Given the description of an element on the screen output the (x, y) to click on. 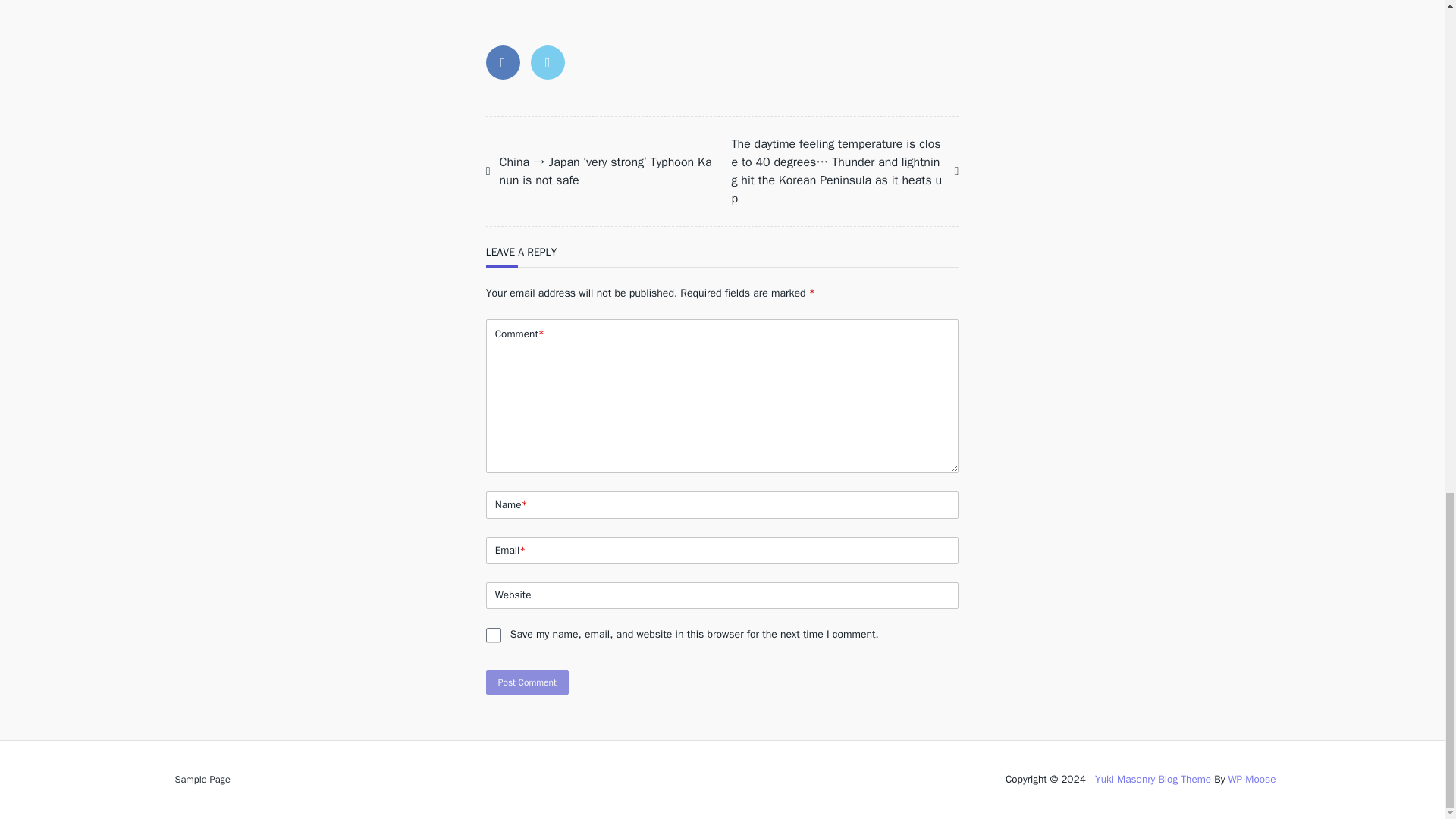
WP Moose (1251, 779)
Post Comment (527, 682)
Post Comment (527, 682)
yes (493, 635)
Sample Page (201, 778)
Yuki Masonry Blog Theme (1152, 779)
